Given the description of an element on the screen output the (x, y) to click on. 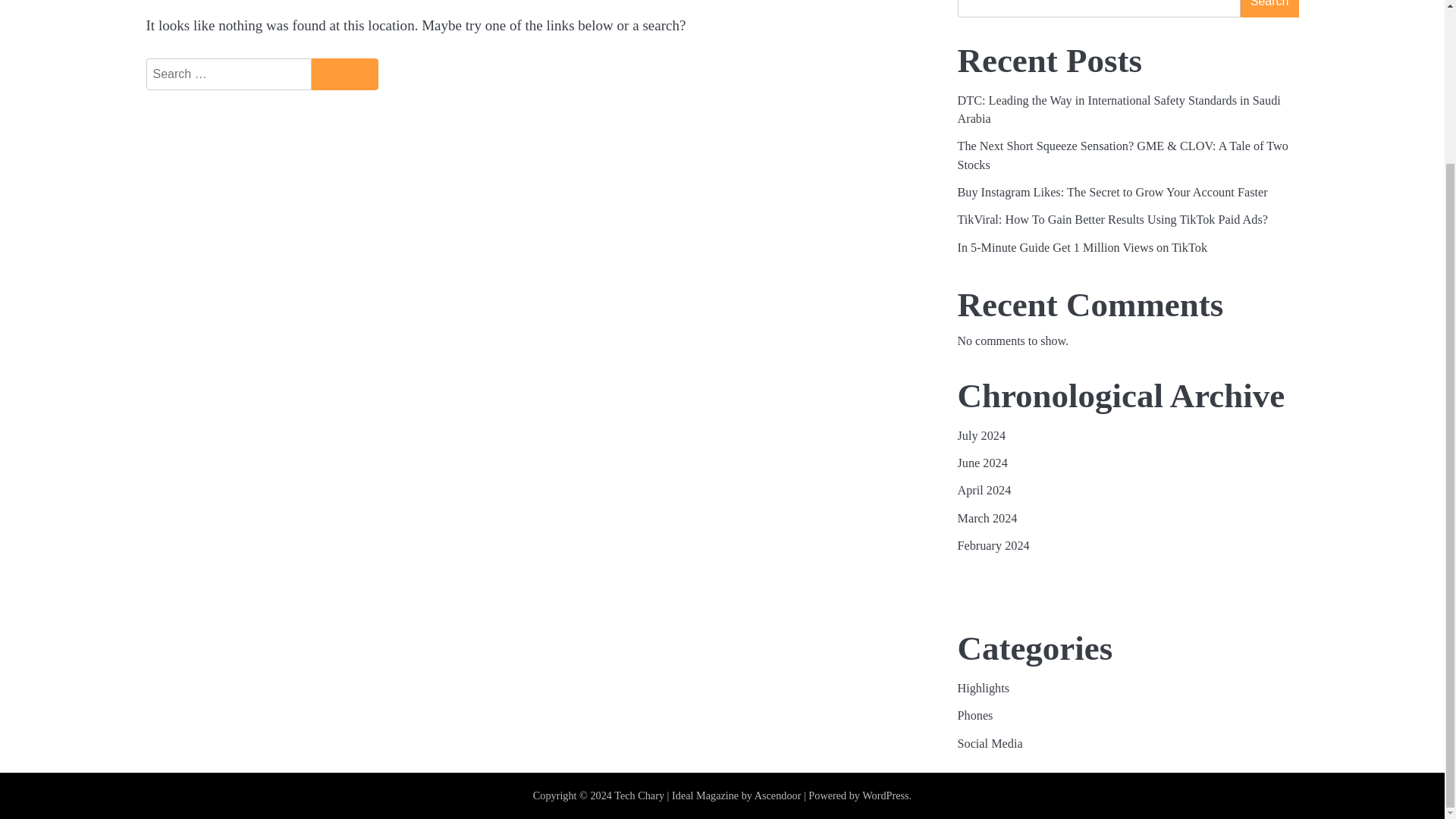
Search (344, 74)
March 2024 (986, 518)
WordPress (884, 795)
Search (344, 74)
TikViral: How To Gain Better Results Using TikTok Paid Ads?  (1112, 219)
Ascendoor (778, 795)
Search (344, 74)
In 5-Minute Guide Get 1 Million Views on TikTok (1081, 247)
Social Media (989, 744)
June 2024 (981, 463)
